Given the description of an element on the screen output the (x, y) to click on. 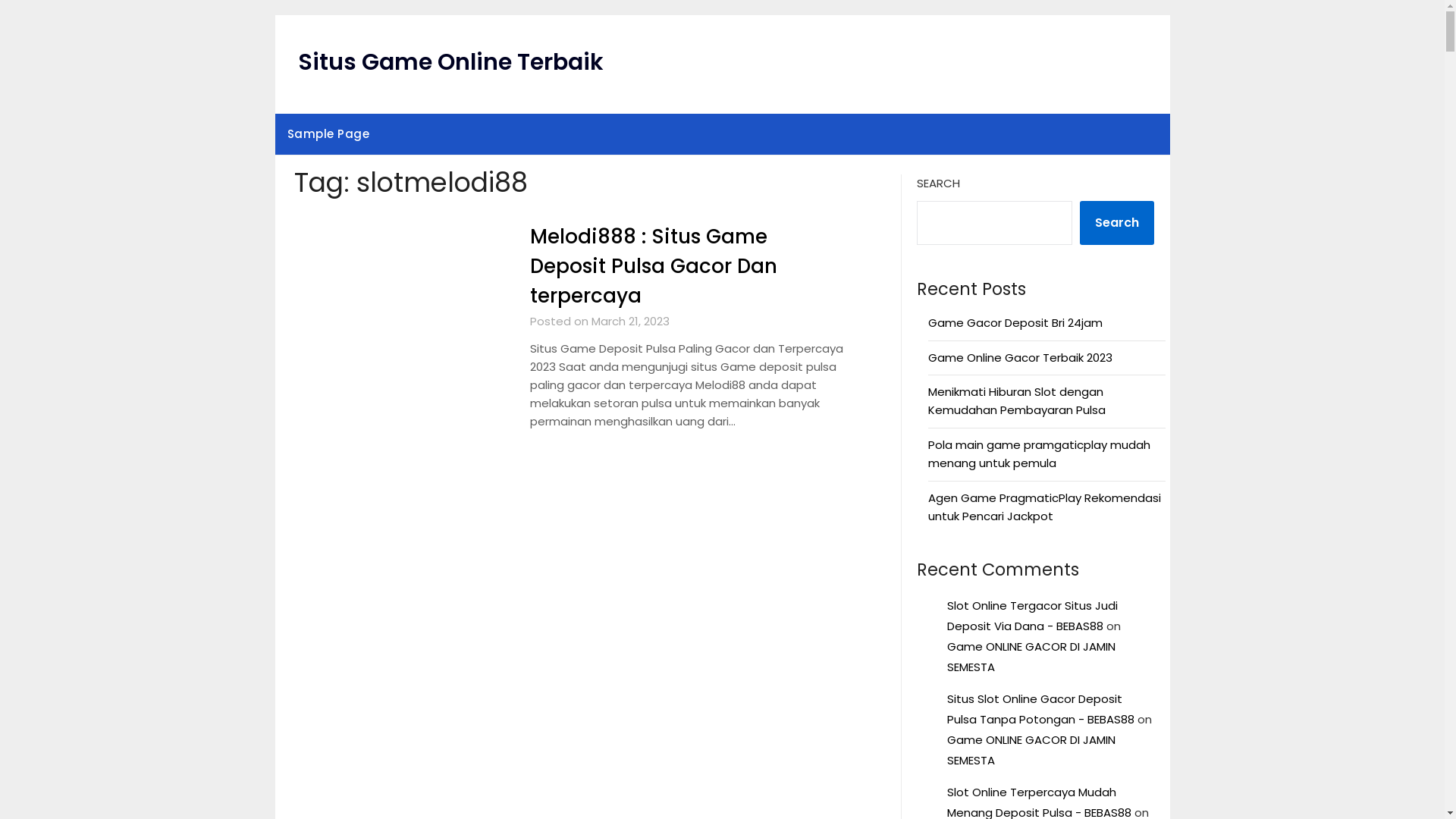
Game Online Gacor Terbaik 2023 Element type: text (1020, 357)
Melodi888 : Situs Game Deposit Pulsa Gacor Dan terpercaya Element type: text (653, 265)
Game ONLINE GACOR DI JAMIN SEMESTA Element type: text (1031, 656)
Agen Game PragmaticPlay Rekomendasi untuk Pencari Jackpot Element type: text (1044, 506)
Game ONLINE GACOR DI JAMIN SEMESTA Element type: text (1031, 749)
Game Gacor Deposit Bri 24jam Element type: text (1015, 322)
Search Element type: text (1116, 222)
Sample Page Element type: text (327, 133)
Pola main game pramgaticplay mudah menang untuk pemula Element type: text (1039, 453)
Situs Game Online Terbaik Element type: text (449, 62)
Menikmati Hiburan Slot dengan Kemudahan Pembayaran Pulsa Element type: text (1016, 400)
Slot Online Tergacor Situs Judi Deposit Via Dana - BEBAS88 Element type: text (1032, 615)
